Given the description of an element on the screen output the (x, y) to click on. 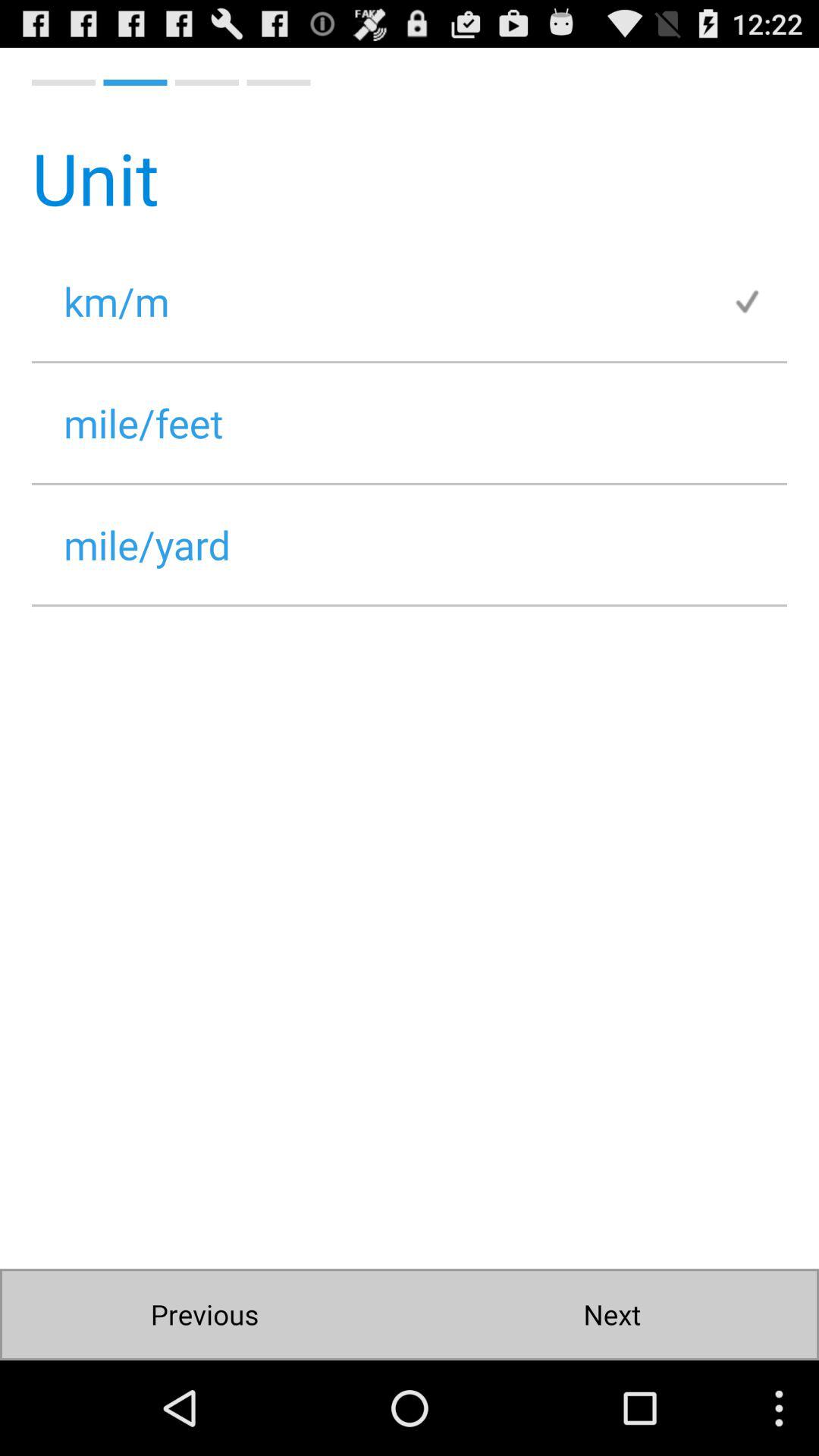
flip to the previous button (204, 1314)
